Given the description of an element on the screen output the (x, y) to click on. 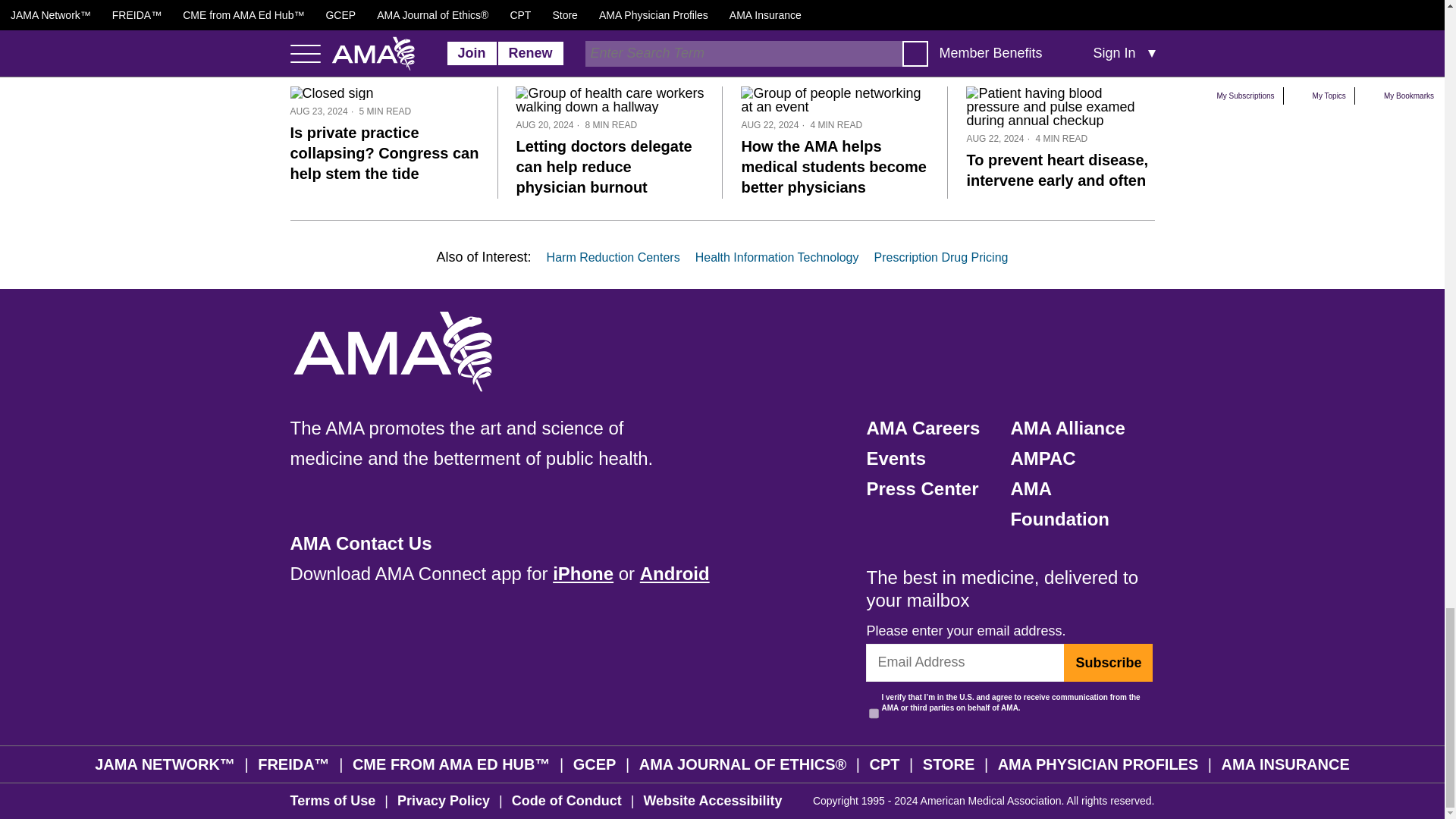
Letting doctors delegate can help reduce physician burnout (603, 166)
Letting doctors delegate can help reduce physician burnout (609, 102)
Subscribe (1108, 662)
